Given the description of an element on the screen output the (x, y) to click on. 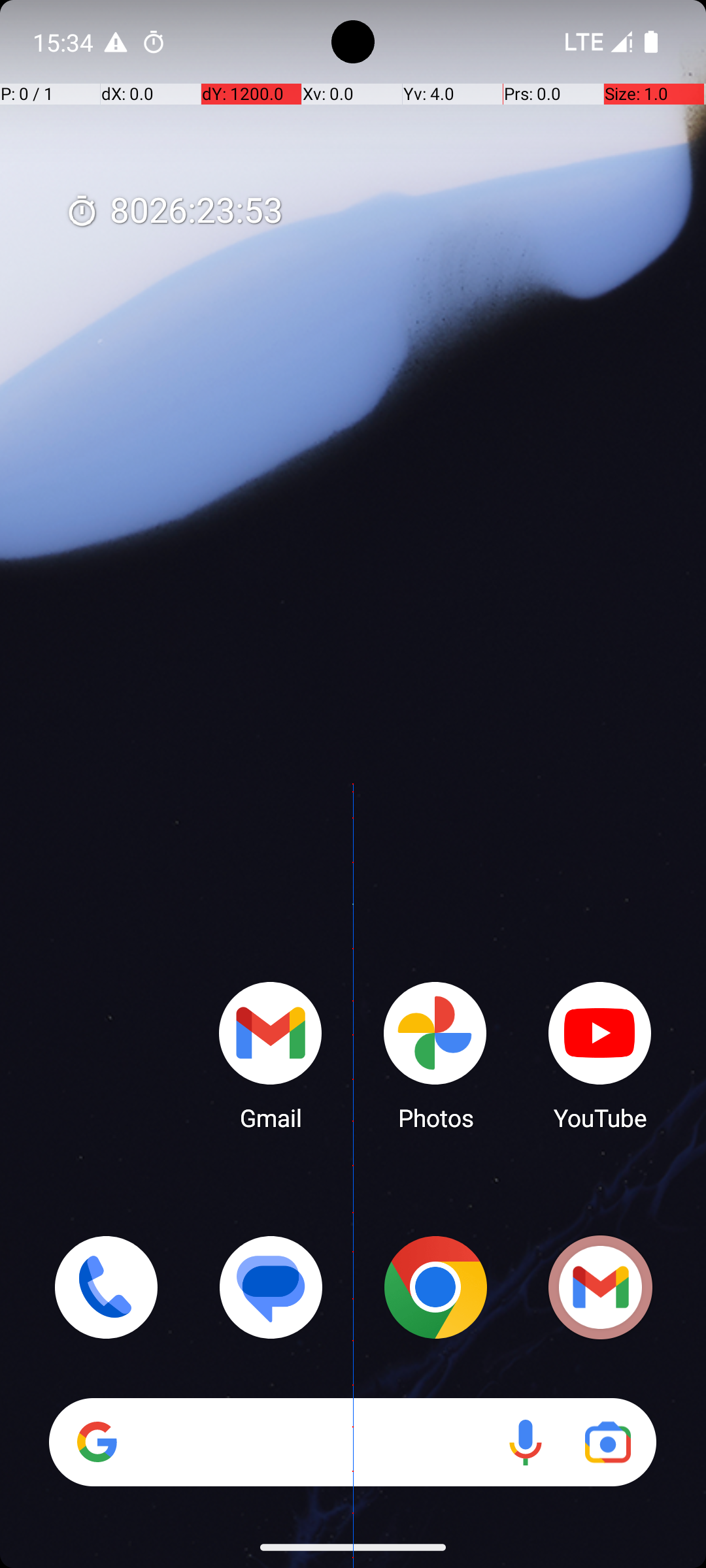
Home Element type: android.view.View (353, 804)
Phone Element type: android.widget.TextView (105, 1287)
Messages Element type: android.widget.TextView (270, 1287)
Chrome Element type: android.widget.TextView (435, 1287)
Gmail Element type: android.widget.TextView (599, 1287)
8026:23:53 Element type: android.widget.TextView (173, 210)
Photos Element type: android.widget.TextView (435, 1054)
YouTube Element type: android.widget.TextView (599, 1054)
Google app Element type: android.widget.ImageView (97, 1441)
Voice search Element type: android.widget.ImageView (525, 1442)
Google Lens Element type: android.widget.ImageButton (607, 1442)
